Given the description of an element on the screen output the (x, y) to click on. 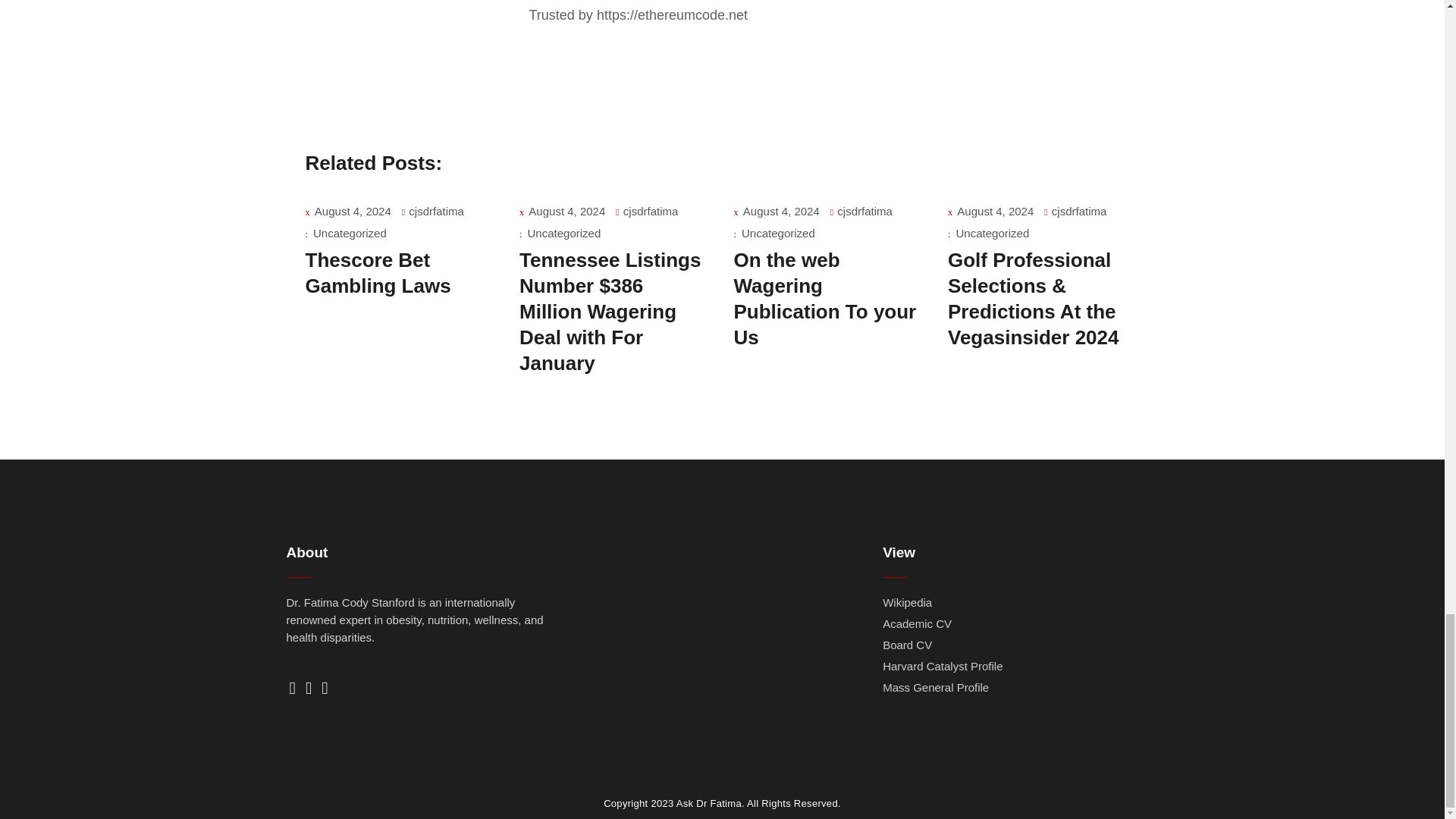
Thescore Bet Gambling Laws (376, 272)
On the web Wagering Publication To your Us (825, 298)
